Given the description of an element on the screen output the (x, y) to click on. 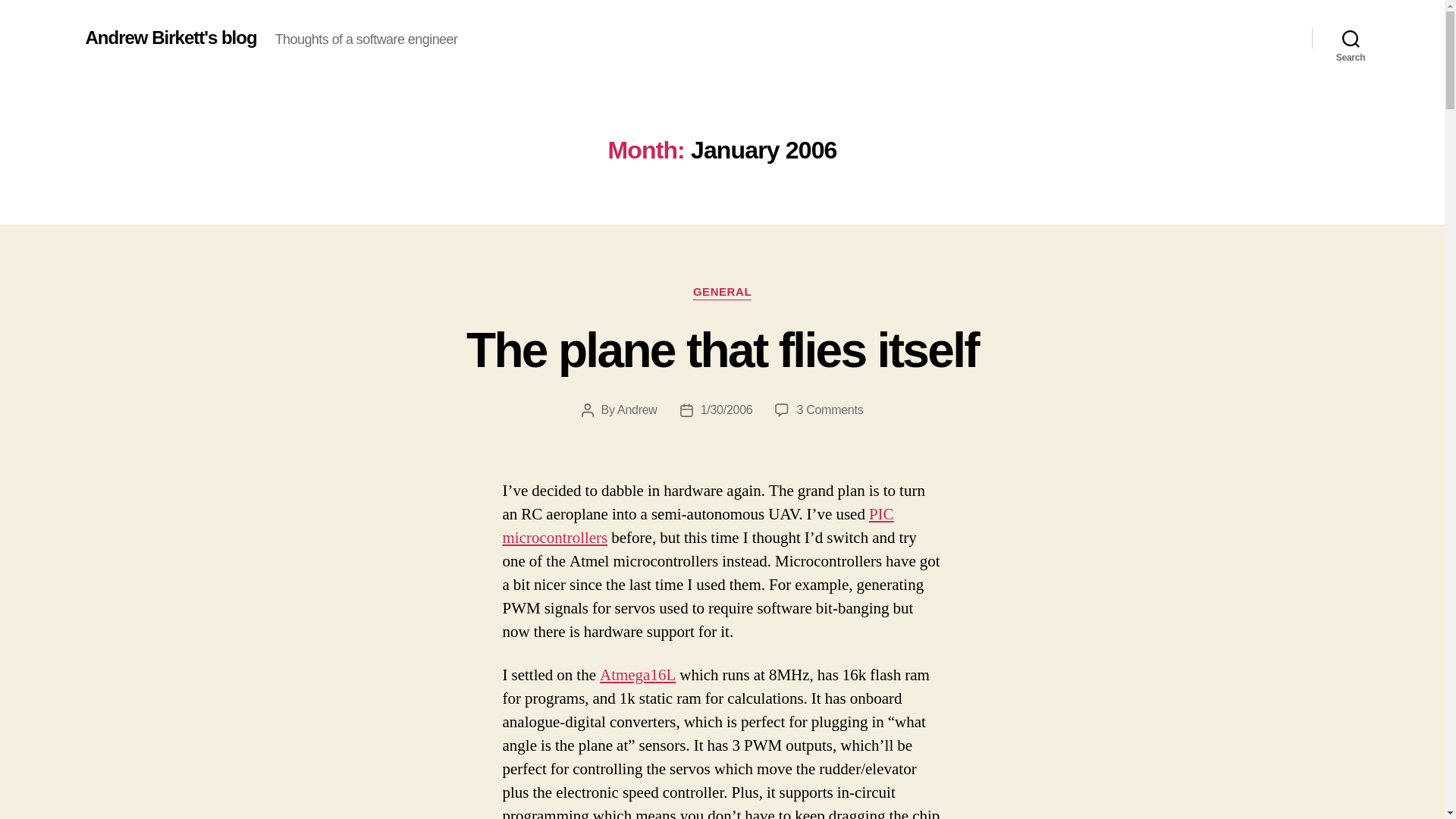
Andrew (637, 409)
Atmega16L (637, 675)
GENERAL (722, 292)
Andrew Birkett's blog (170, 37)
PIC microcontrollers (697, 525)
The plane that flies itself (829, 409)
Search (721, 349)
